Given the description of an element on the screen output the (x, y) to click on. 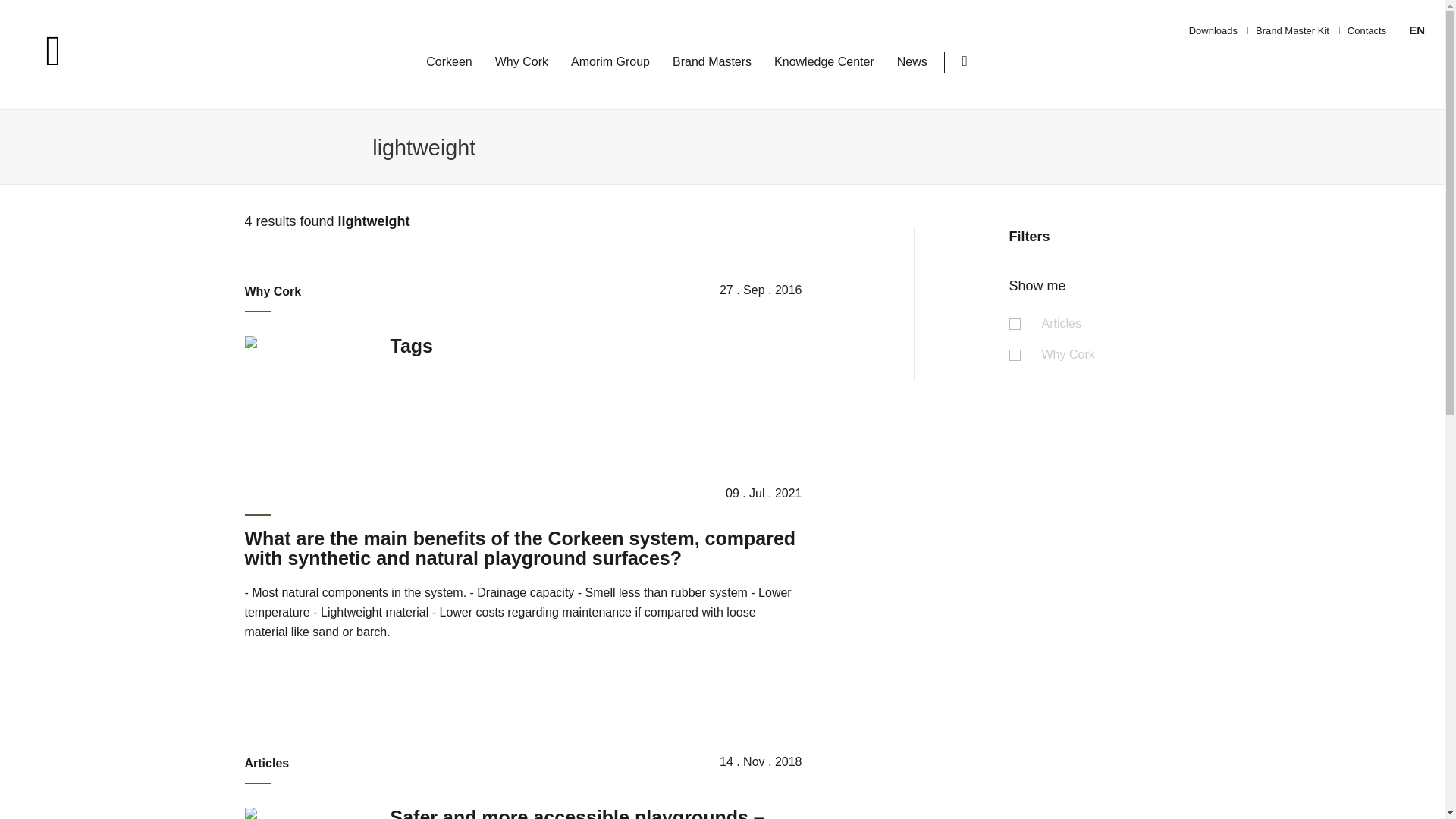
Downloads (1213, 31)
News (911, 61)
EN (1417, 29)
Why Cork (521, 61)
Brand Masters (711, 61)
Contacts (1367, 31)
ok (1047, 156)
lightweight (650, 147)
ok (1047, 156)
Amorim Group (609, 61)
Corkeen (448, 61)
Amorim Cork Composites (102, 52)
Brand Master Kit (1292, 31)
Tags (411, 345)
